Given the description of an element on the screen output the (x, y) to click on. 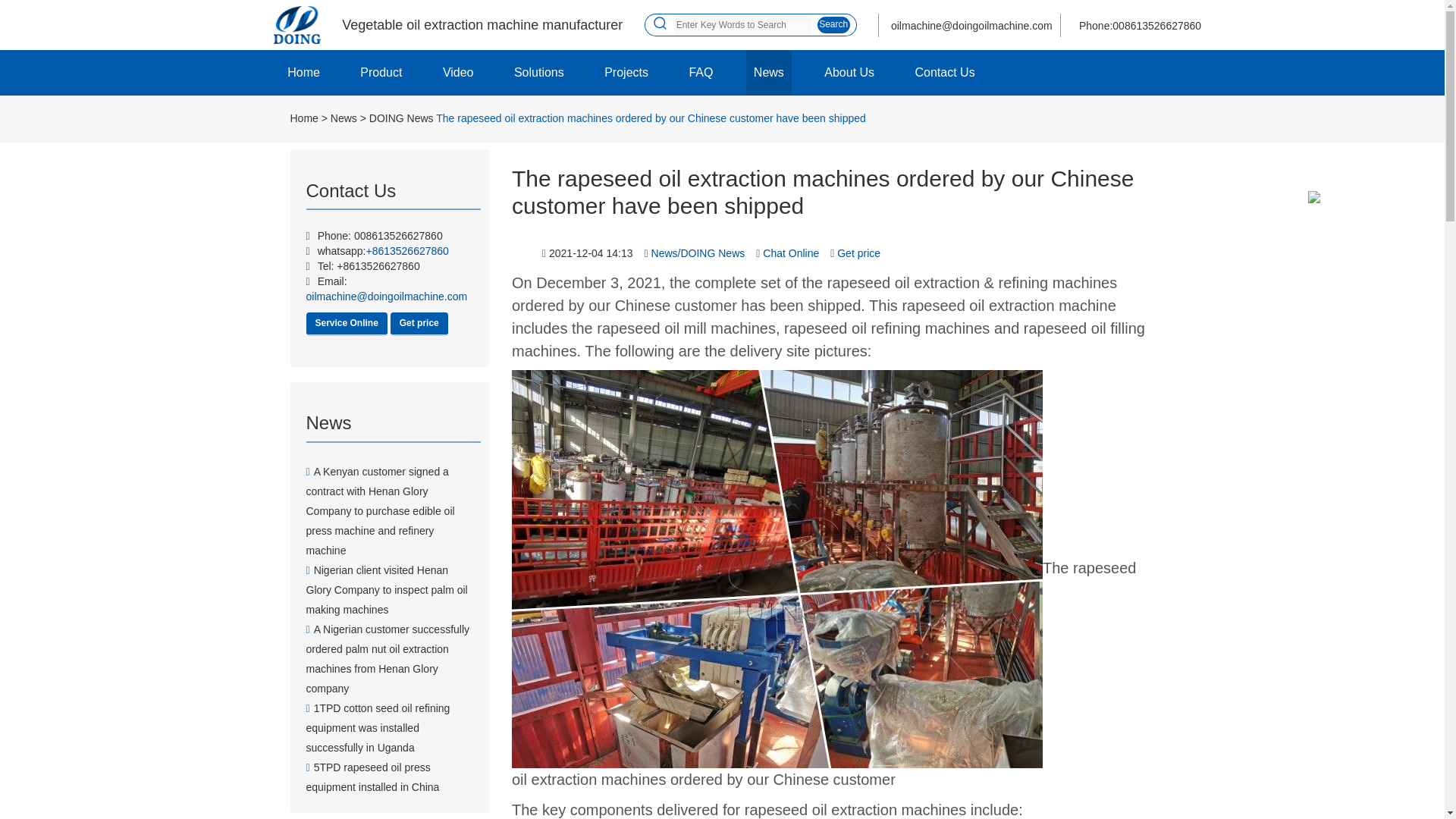
Home (303, 118)
About Us (849, 72)
Search (833, 24)
Product (380, 72)
Service Online (346, 323)
Projects (625, 72)
News (343, 118)
Contact Us (945, 72)
